Given the description of an element on the screen output the (x, y) to click on. 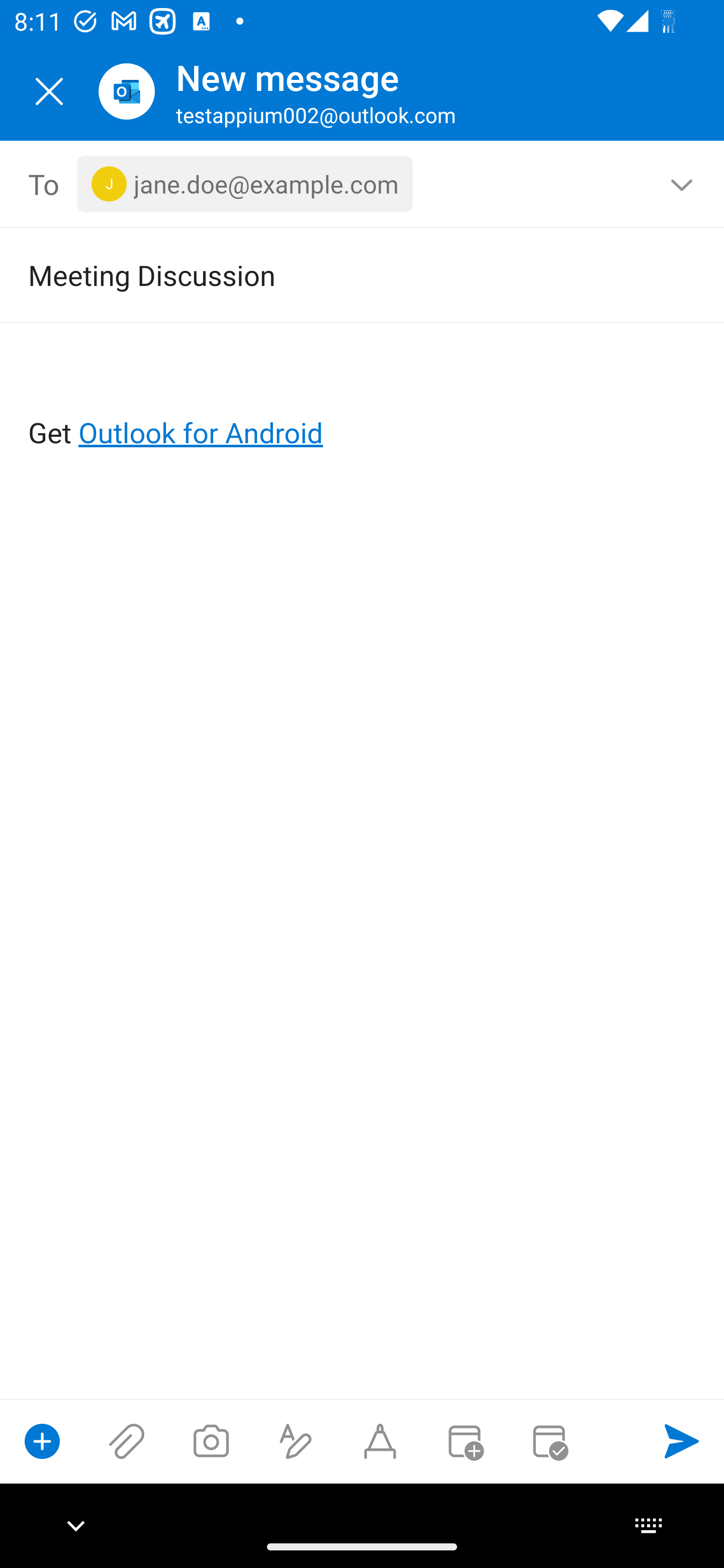
Close (49, 91)
To, 1 recipient <jane.doe@example.com> (362, 184)
Meeting Discussion (333, 274)


Get Outlook for Android (363, 400)
Show compose options (42, 1440)
Attach files (126, 1440)
Take a photo (210, 1440)
Show formatting options (295, 1440)
Start Ink compose (380, 1440)
Convert to event (464, 1440)
Send availability (548, 1440)
Send (681, 1440)
